Given the description of an element on the screen output the (x, y) to click on. 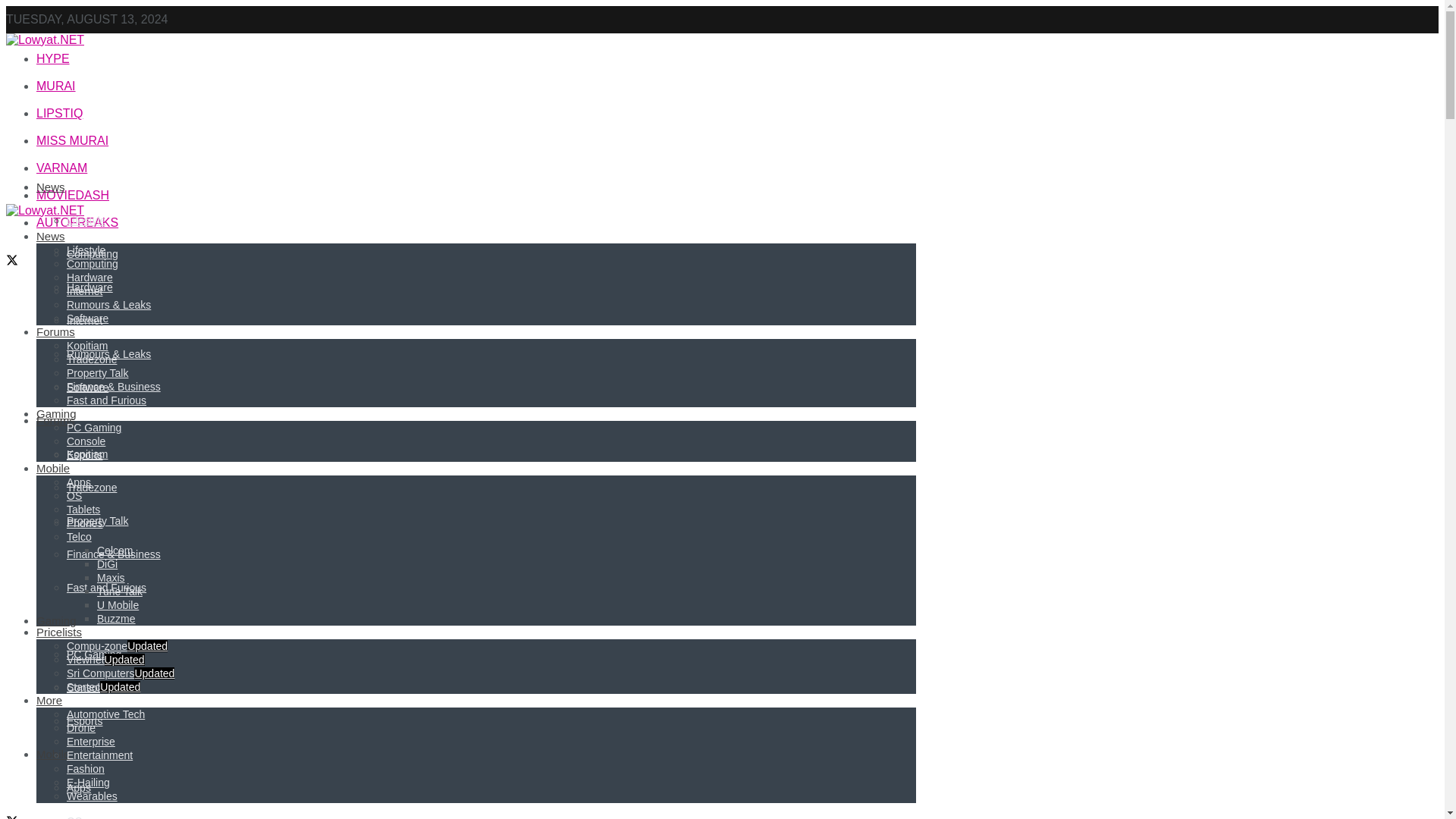
LIPSTIQ (59, 113)
VARNAM (61, 167)
HYPE (52, 58)
Mobile (52, 753)
News (50, 186)
Software (86, 387)
AUTOFREAKS (76, 222)
Computing (91, 254)
MURAI (55, 85)
Lifestyle (85, 220)
